Given the description of an element on the screen output the (x, y) to click on. 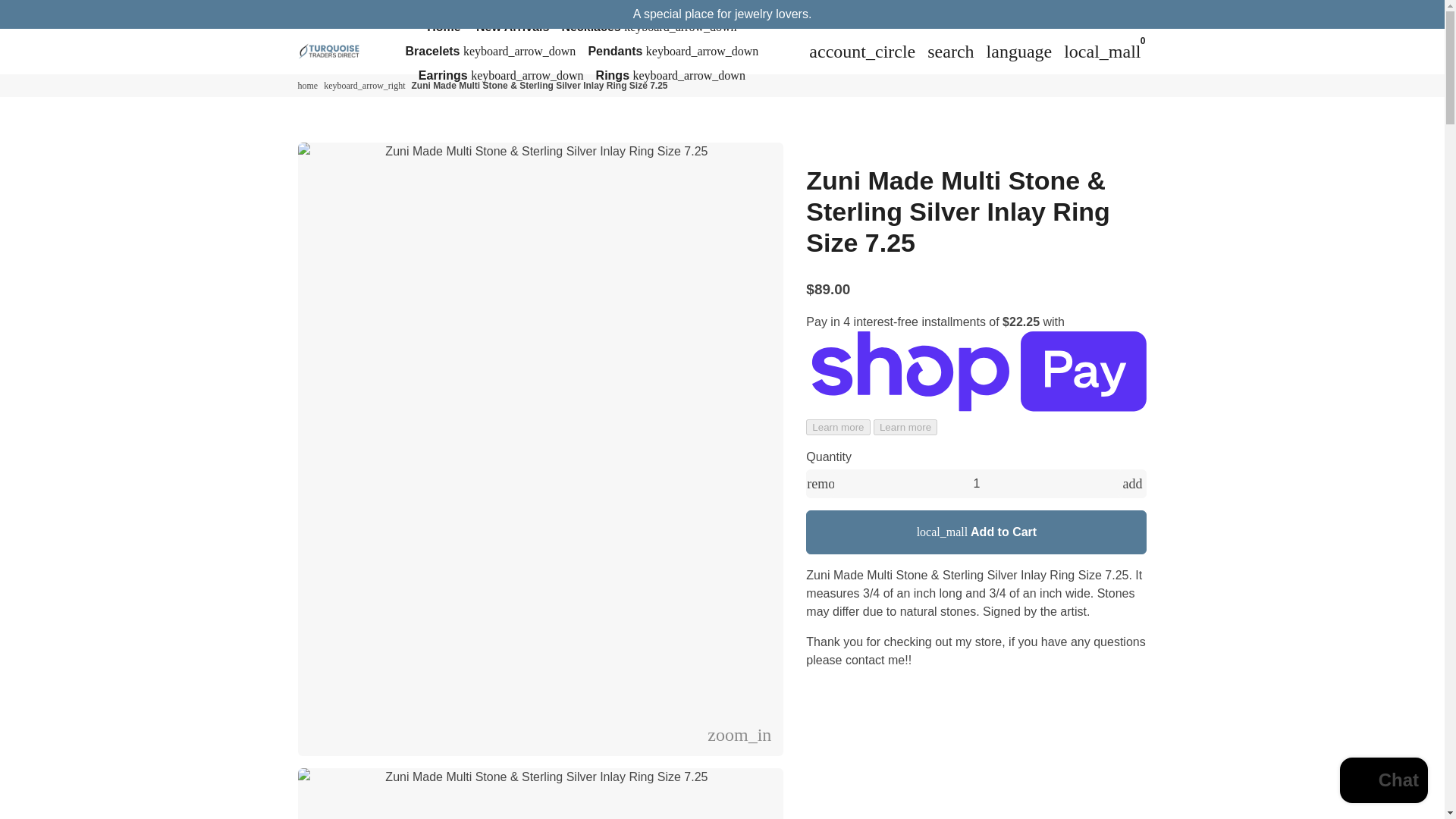
1 (976, 483)
Search (950, 51)
Log In (862, 51)
